Given the description of an element on the screen output the (x, y) to click on. 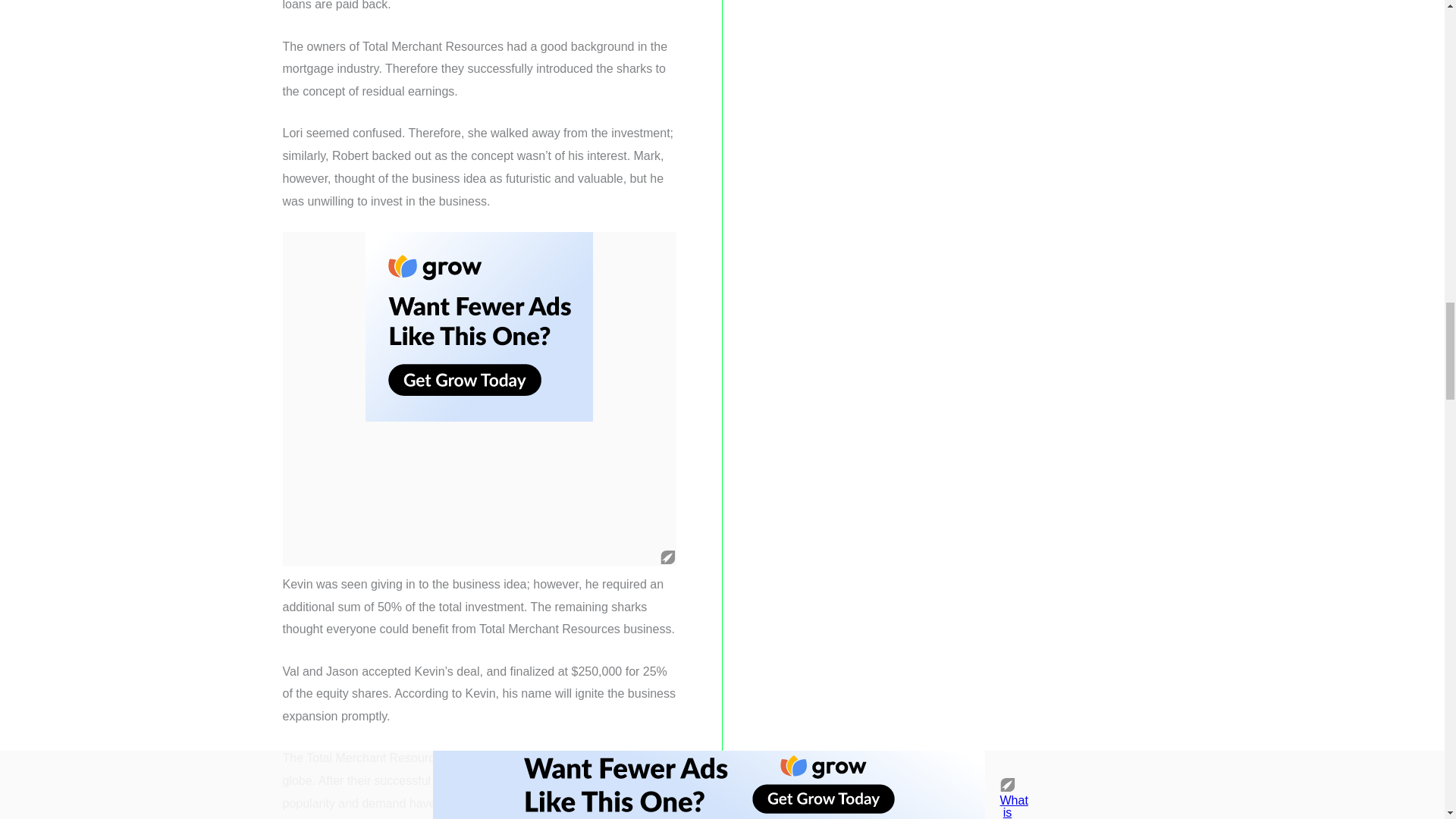
Shark Tank (600, 780)
